Given the description of an element on the screen output the (x, y) to click on. 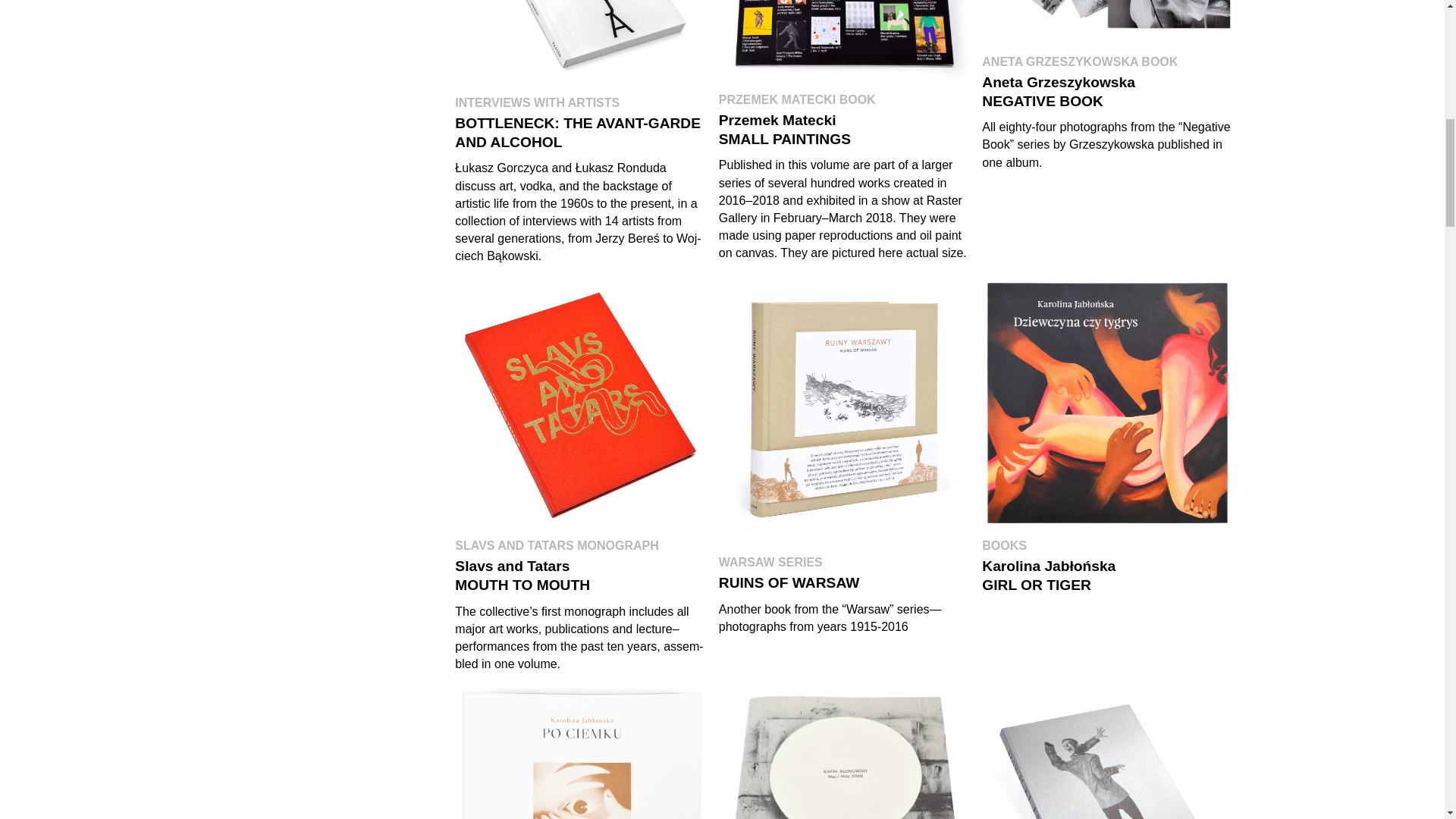
NEGATIVE BOOK (1107, 85)
MAY 2066 (844, 751)
BOTTLENECK: THE AVANT-GARDE AND ALCOHOL (580, 132)
SMALL PAINTINGS (844, 130)
